Given the description of an element on the screen output the (x, y) to click on. 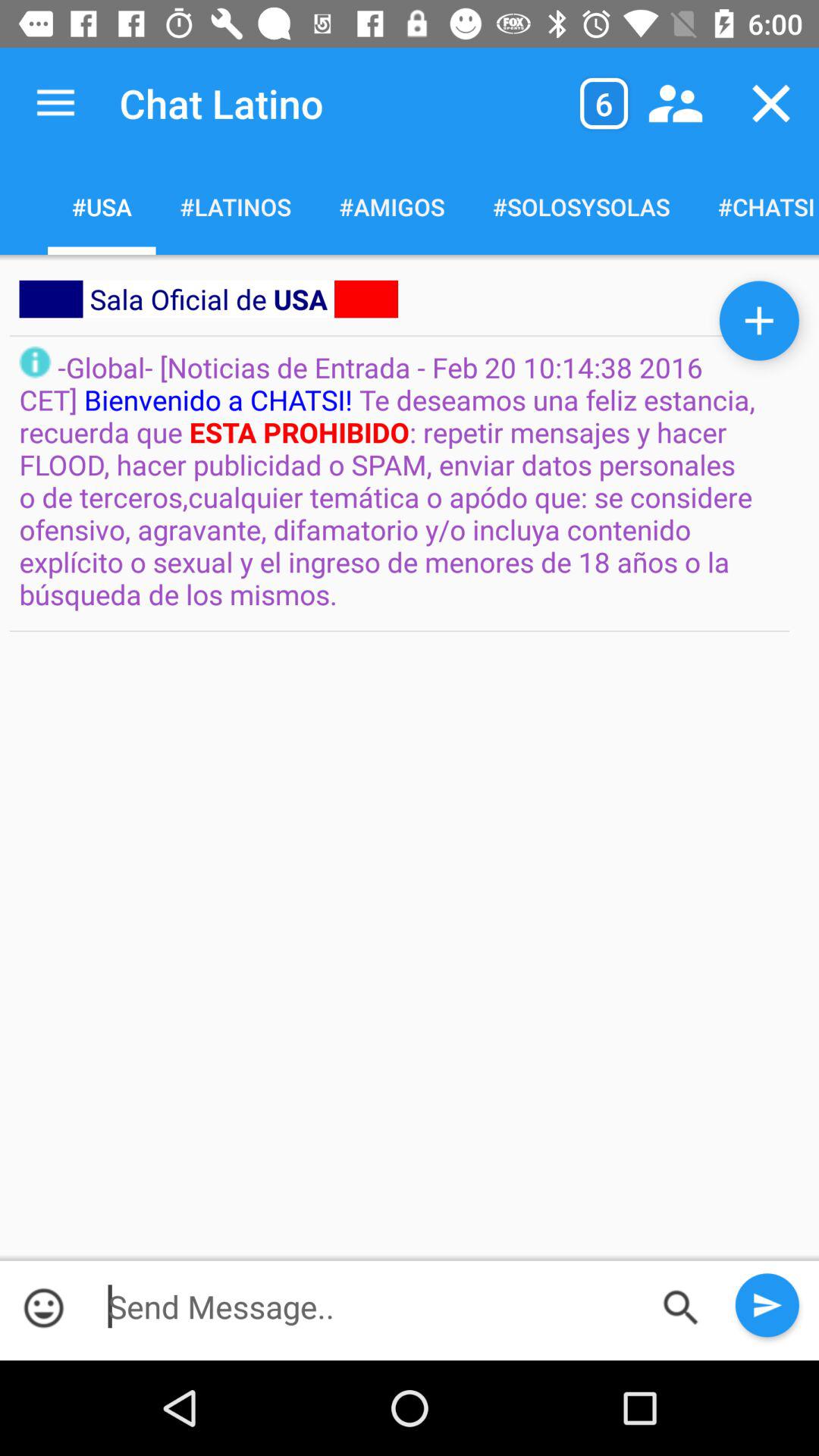
select the third option below text chat latino (391, 206)
click on usa (101, 206)
click on 6 in the box (603, 103)
choose the contacts icon beside cross mark (675, 103)
select  button on the right side (759, 321)
